Given the description of an element on the screen output the (x, y) to click on. 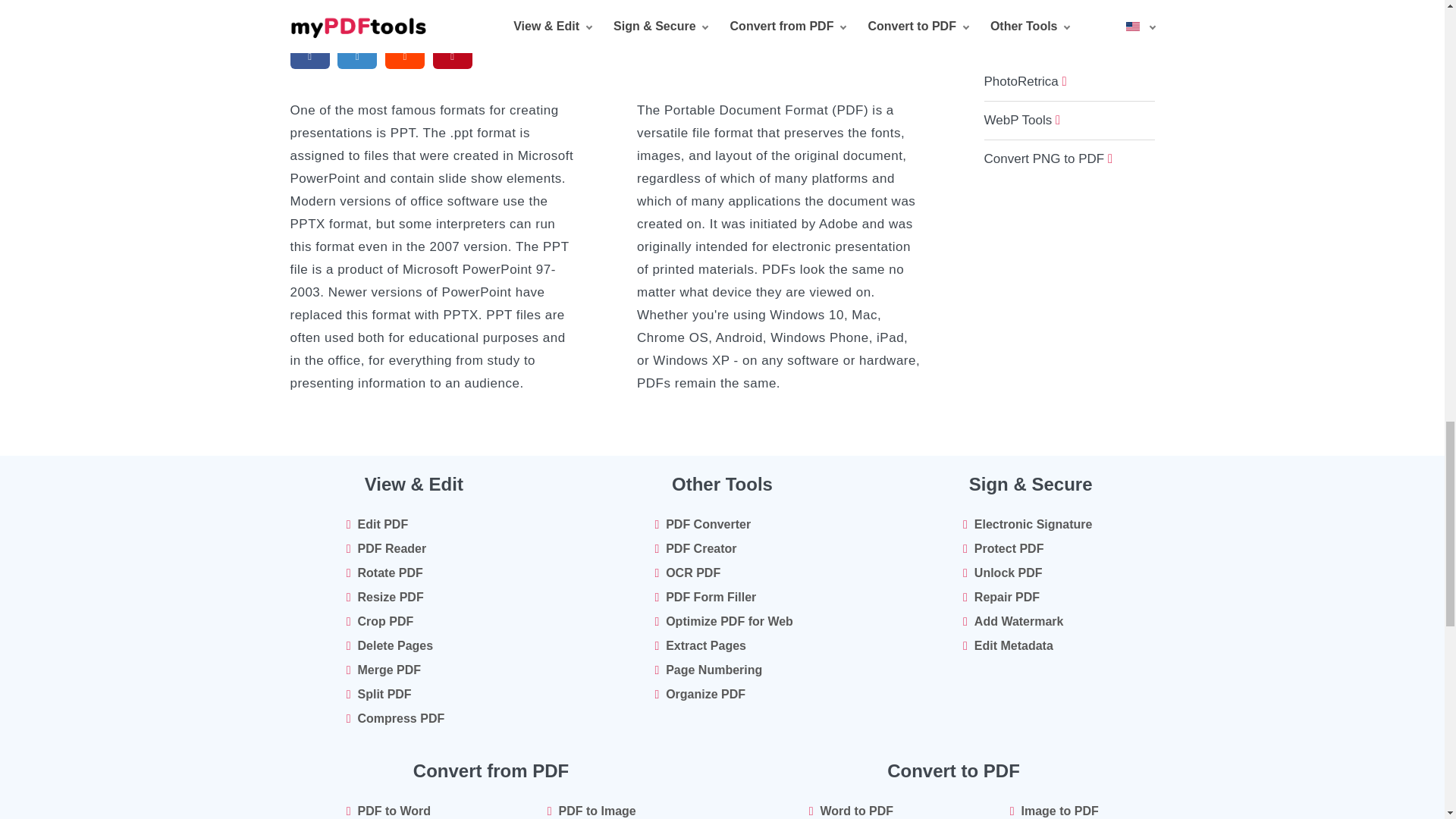
Reddit (404, 56)
Facebook (309, 56)
Twitter (356, 56)
Pinterest (452, 56)
